Given the description of an element on the screen output the (x, y) to click on. 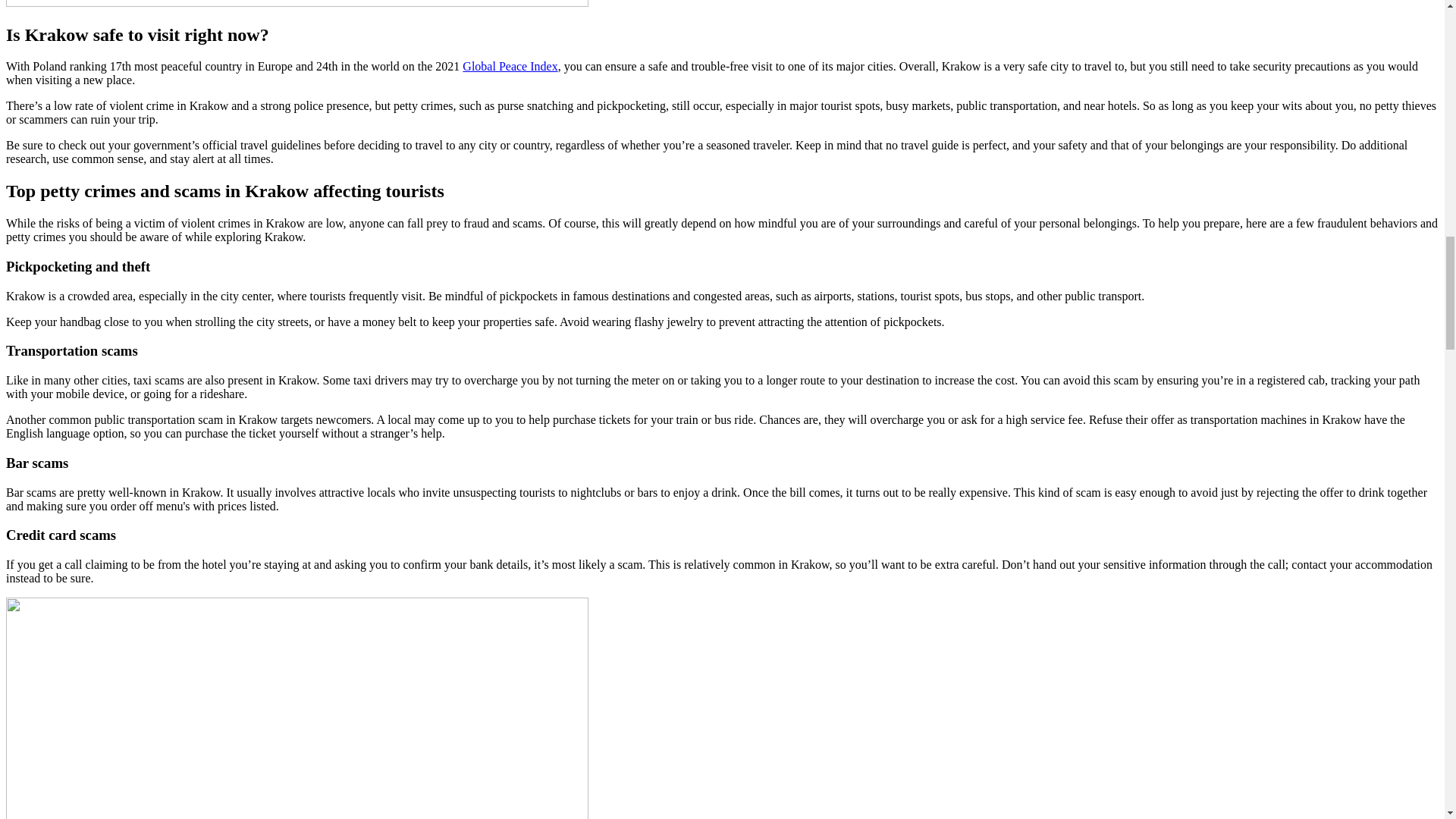
Global Peace Index (510, 65)
